Given the description of an element on the screen output the (x, y) to click on. 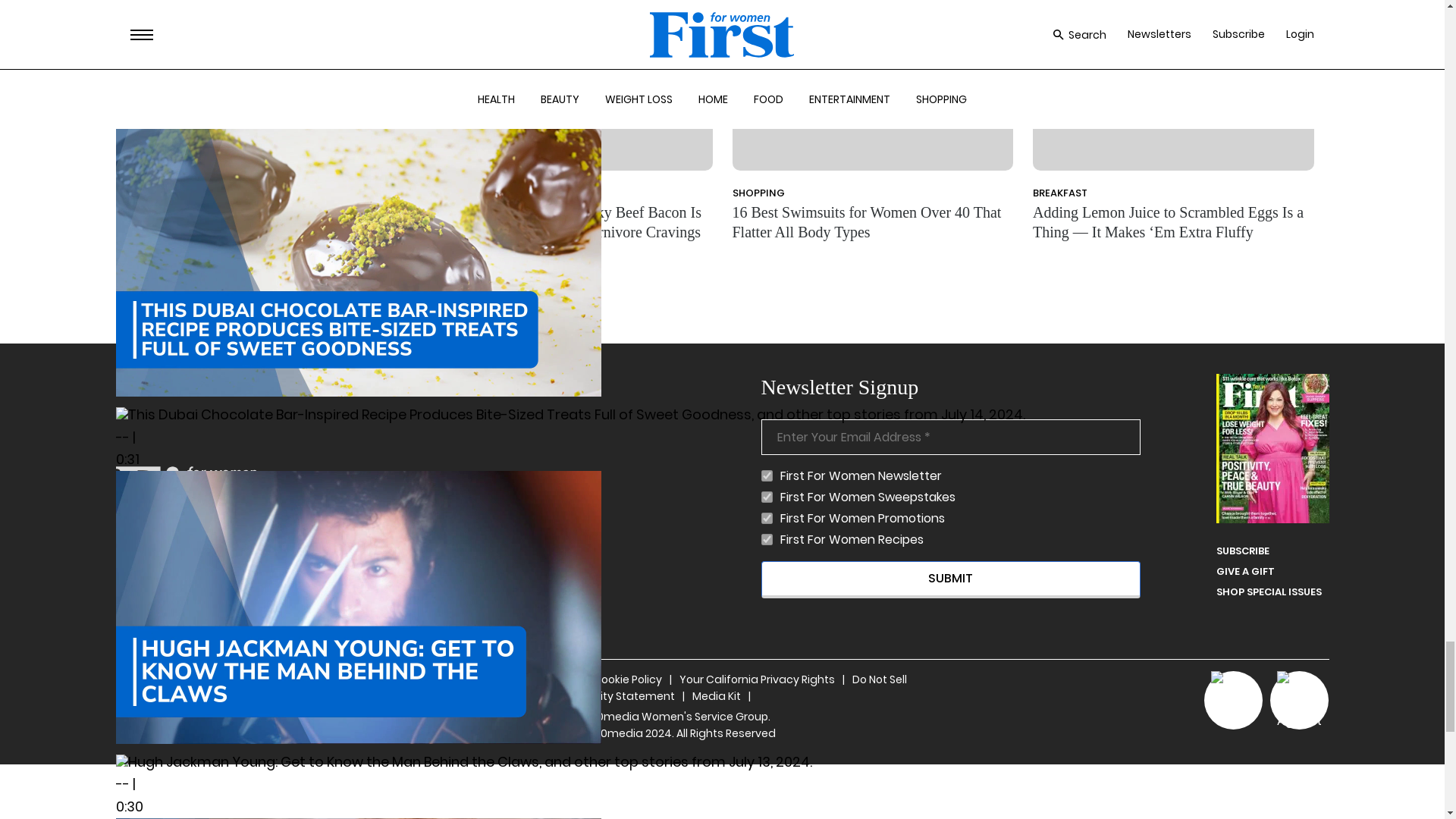
1 (767, 518)
1 (767, 539)
1 (767, 496)
1 (767, 475)
